Given the description of an element on the screen output the (x, y) to click on. 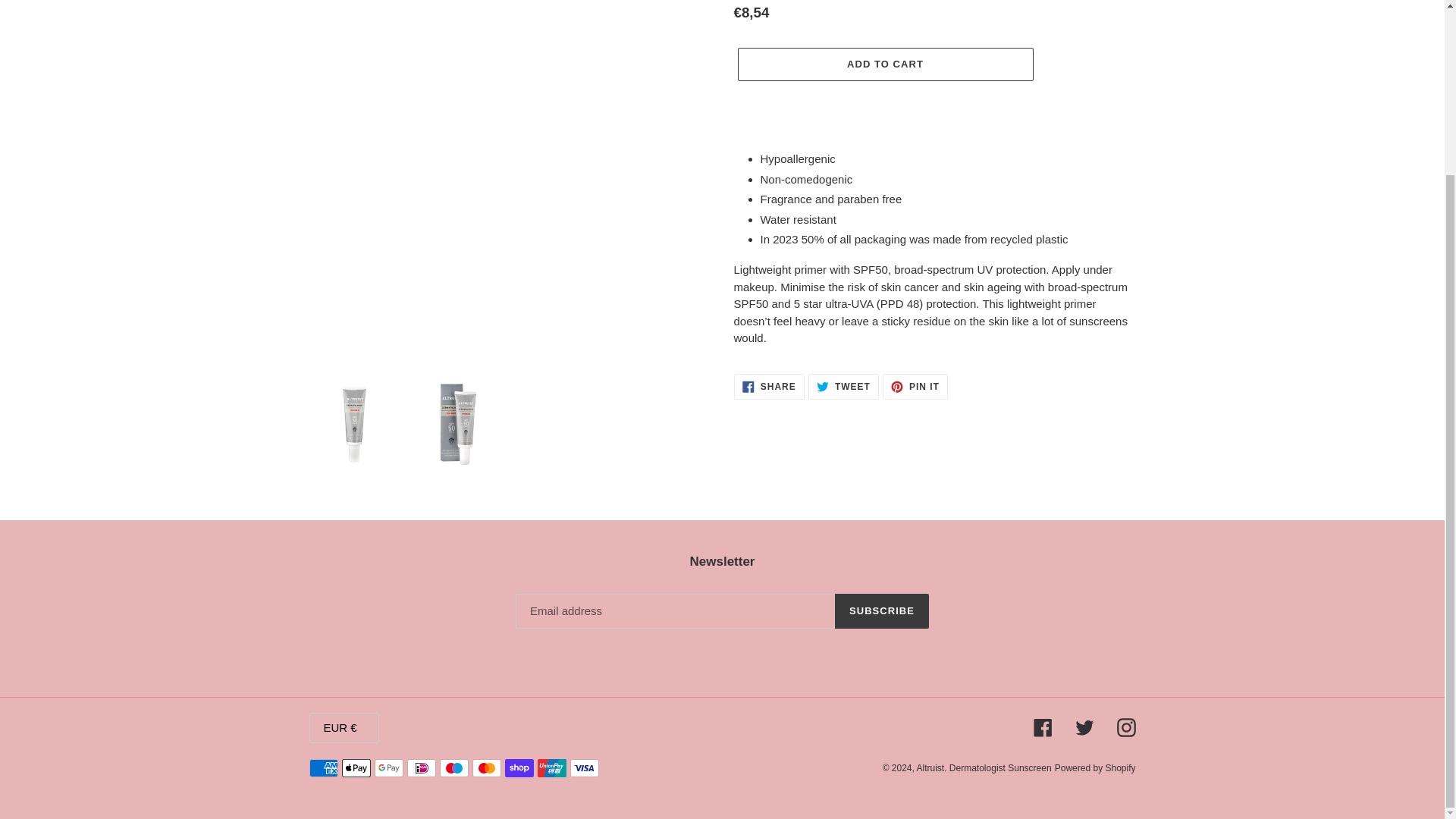
ADD TO CART (884, 64)
Instagram (769, 386)
Powered by Shopify (843, 386)
Twitter (1125, 727)
Altruist. Dermatologist Sunscreen (1094, 767)
SUBSCRIBE (914, 386)
Facebook (1084, 727)
